Given the description of an element on the screen output the (x, y) to click on. 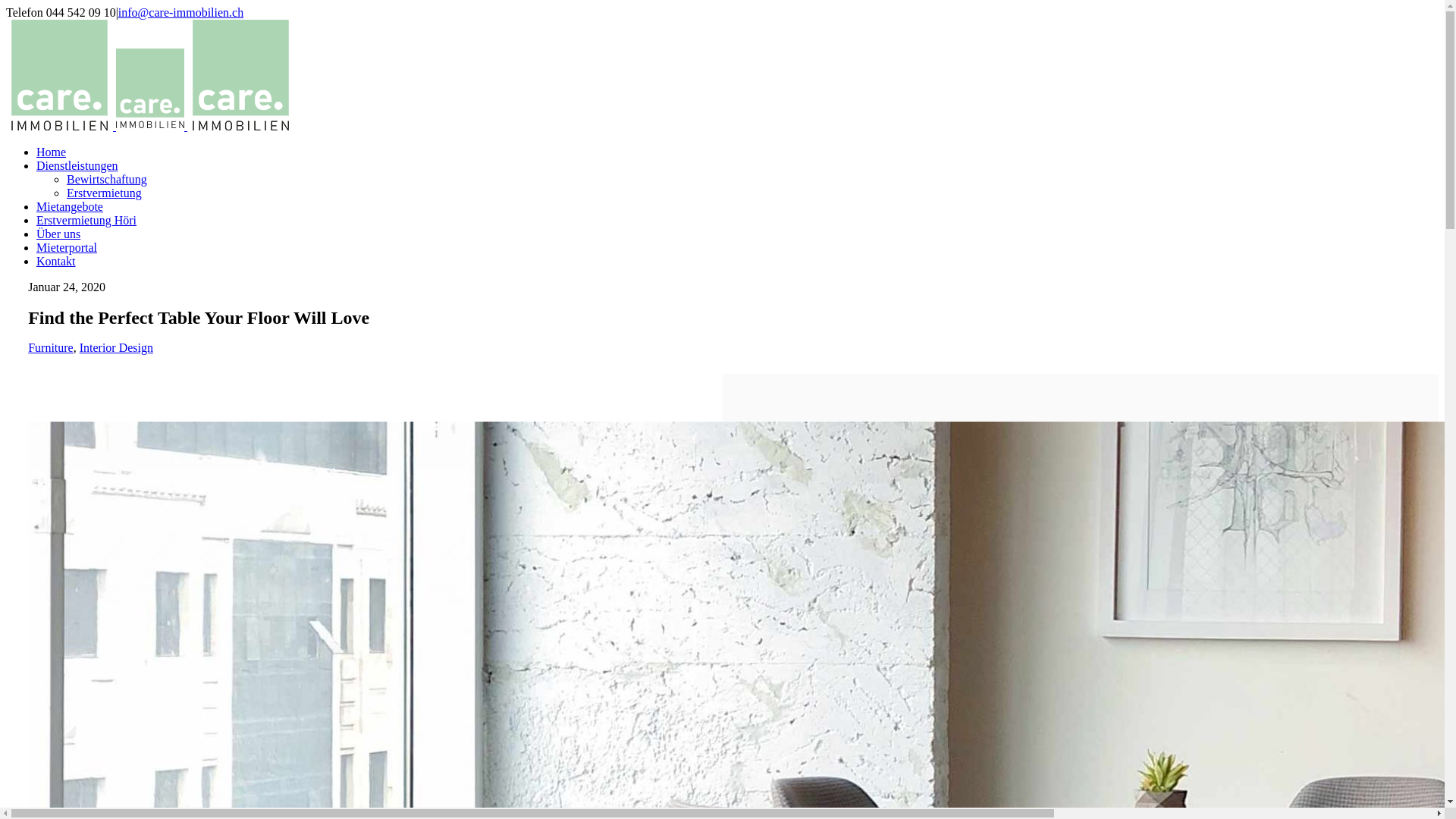
Kontakt Element type: text (55, 260)
Furniture Element type: text (50, 347)
Dienstleistungen Element type: text (77, 165)
info@care-immobilien.ch Element type: text (180, 12)
Mietangebote Element type: text (69, 206)
Home Element type: text (50, 151)
Bewirtschaftung Element type: text (106, 178)
Erstvermietung Element type: text (103, 192)
Interior Design Element type: text (116, 347)
Mieterportal Element type: text (66, 247)
Zum Inhalt springen Element type: text (5, 5)
